Given the description of an element on the screen output the (x, y) to click on. 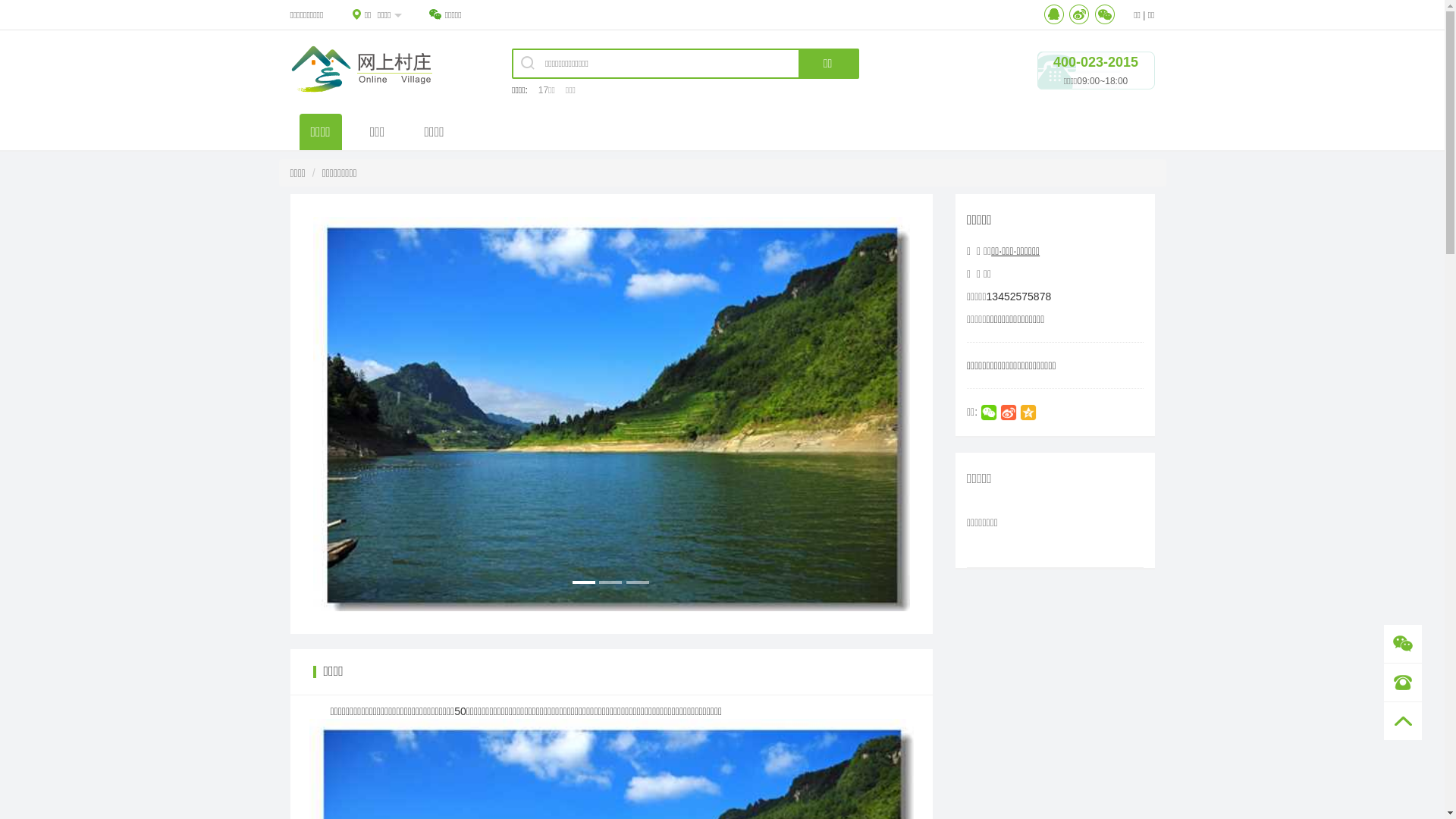
0 Element type: text (1402, 721)
